Given the description of an element on the screen output the (x, y) to click on. 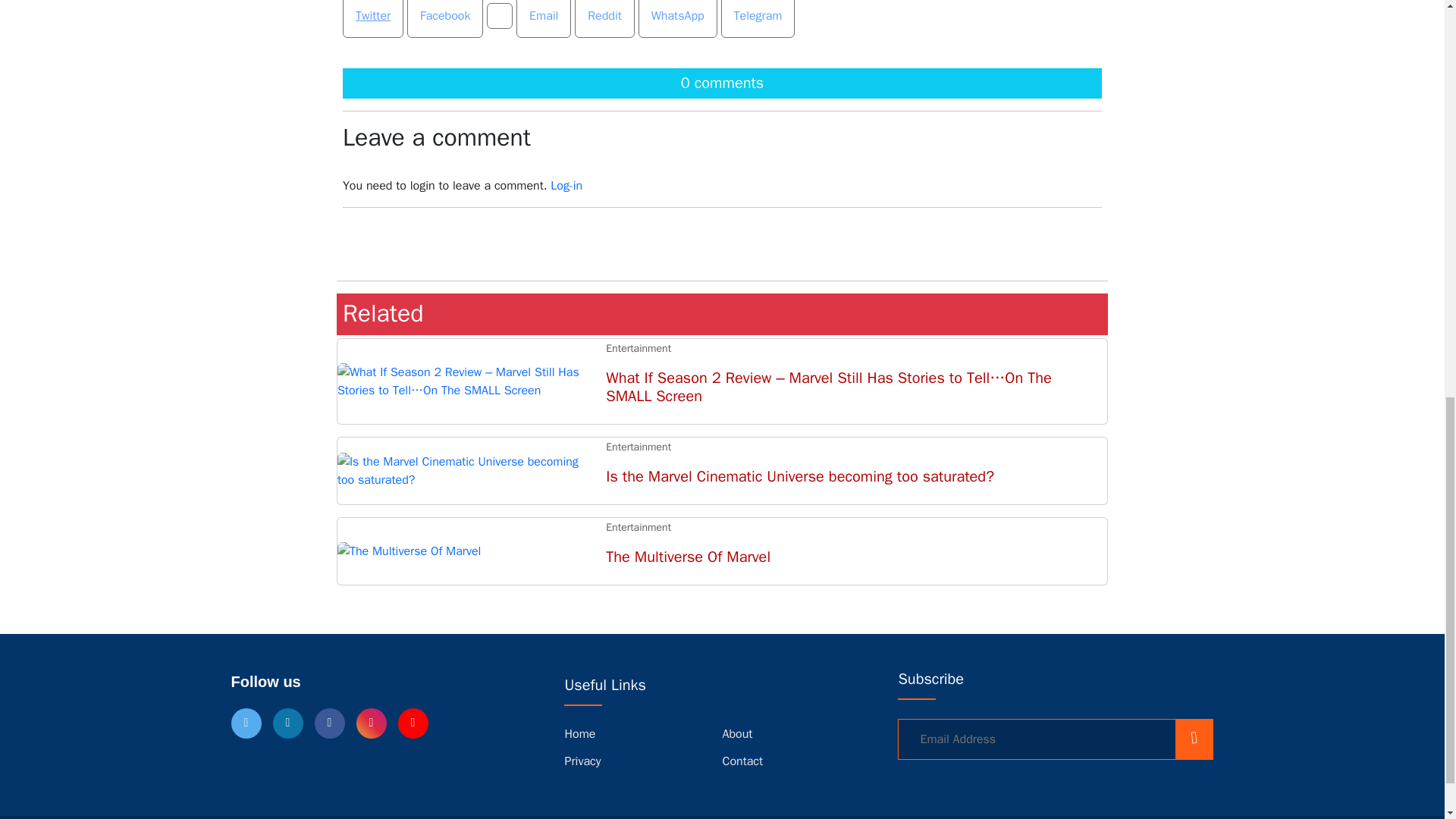
Telegram (757, 18)
Twitter (372, 15)
Log-in (566, 185)
Email (543, 18)
Twitter (372, 18)
Facebook (445, 18)
Reddit (721, 550)
Email (604, 18)
WhatsApp (543, 15)
Facebook (678, 18)
Reddit (445, 15)
WhatsApp (604, 15)
Telegram (677, 15)
